Given the description of an element on the screen output the (x, y) to click on. 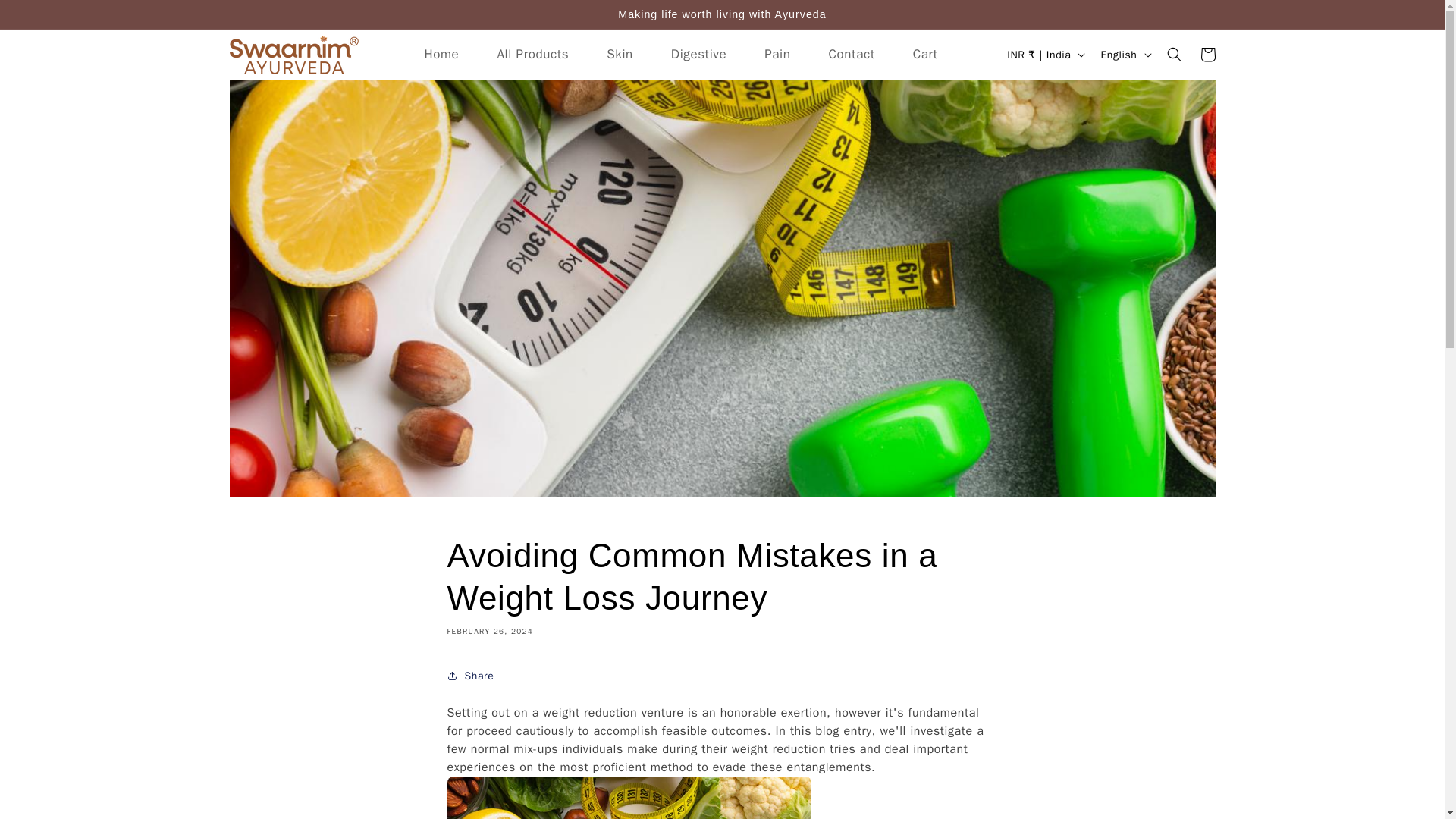
Digestive (698, 54)
Home (440, 54)
Skin (620, 54)
Pain (777, 54)
All Products (532, 54)
Skip to content (45, 17)
Contact (851, 54)
Cart (1207, 54)
English (1123, 54)
Cart (924, 54)
